Given the description of an element on the screen output the (x, y) to click on. 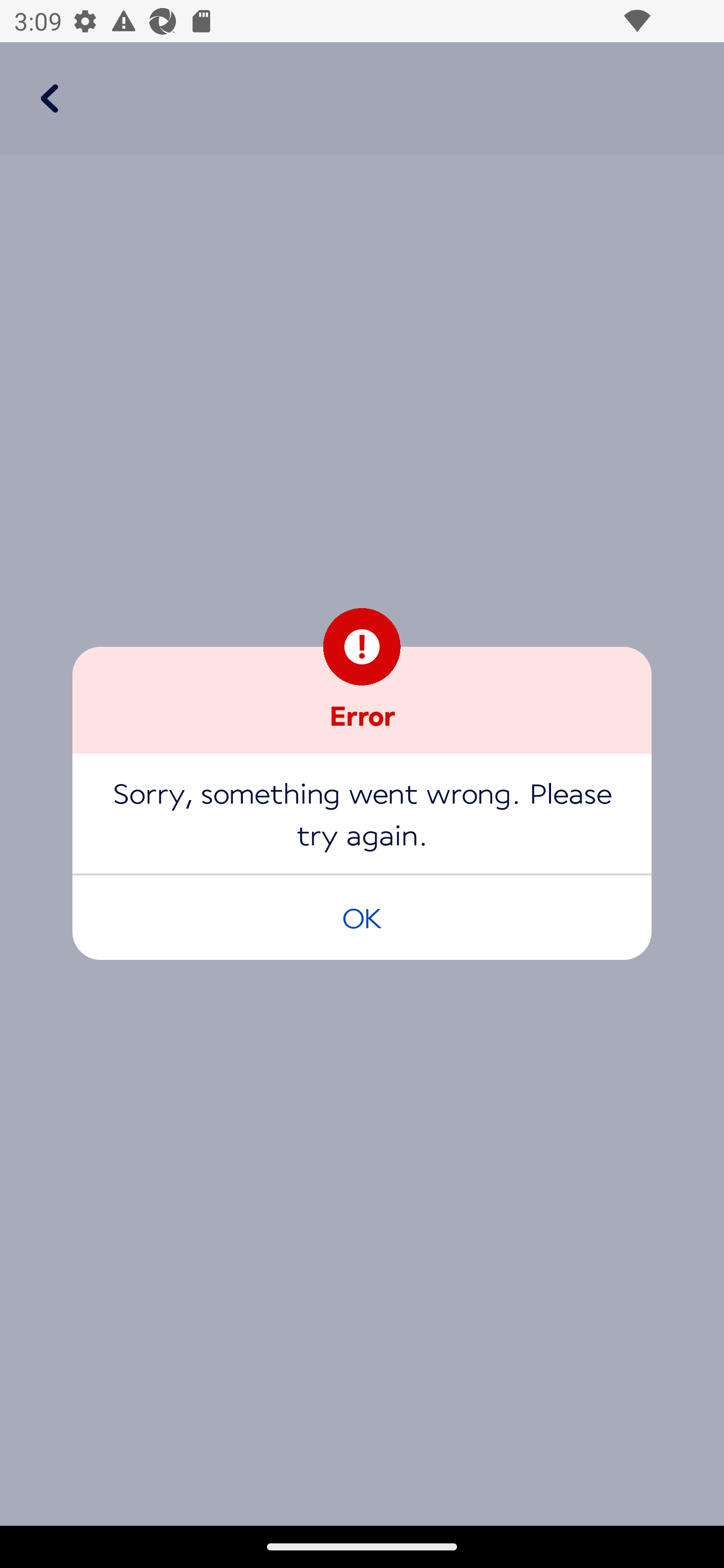
OK (361, 916)
